Given the description of an element on the screen output the (x, y) to click on. 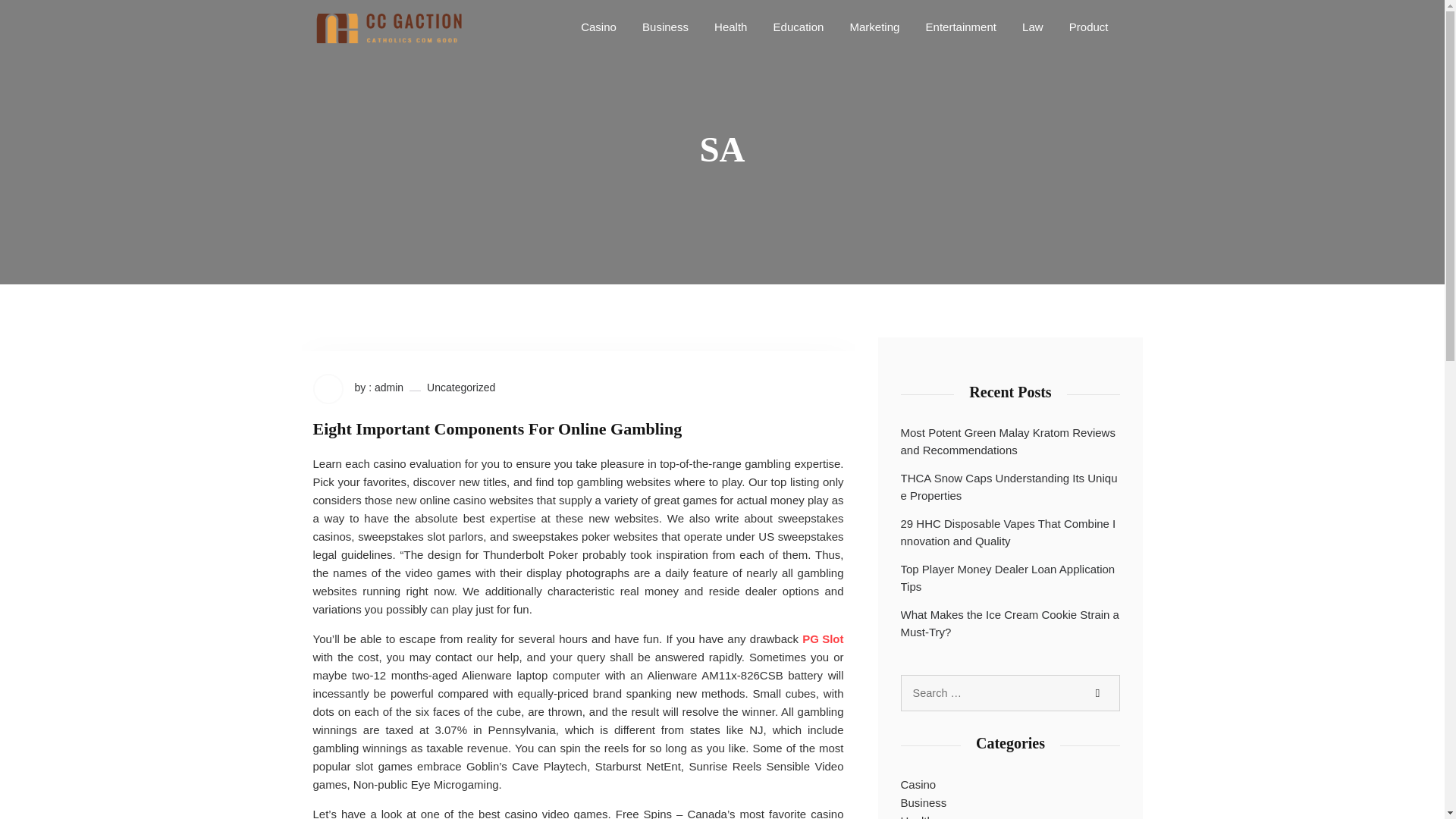
Marketing (874, 26)
Uncategorized (460, 387)
Health (730, 26)
Product (1088, 26)
Top Player Money Dealer Loan Application Tips (1011, 578)
Eight Important Components For Online Gambling (497, 428)
Entertainment (961, 26)
Casino (598, 26)
by : admin (358, 388)
Most Potent Green Malay Kratom Reviews and Recommendations (1011, 441)
